Given the description of an element on the screen output the (x, y) to click on. 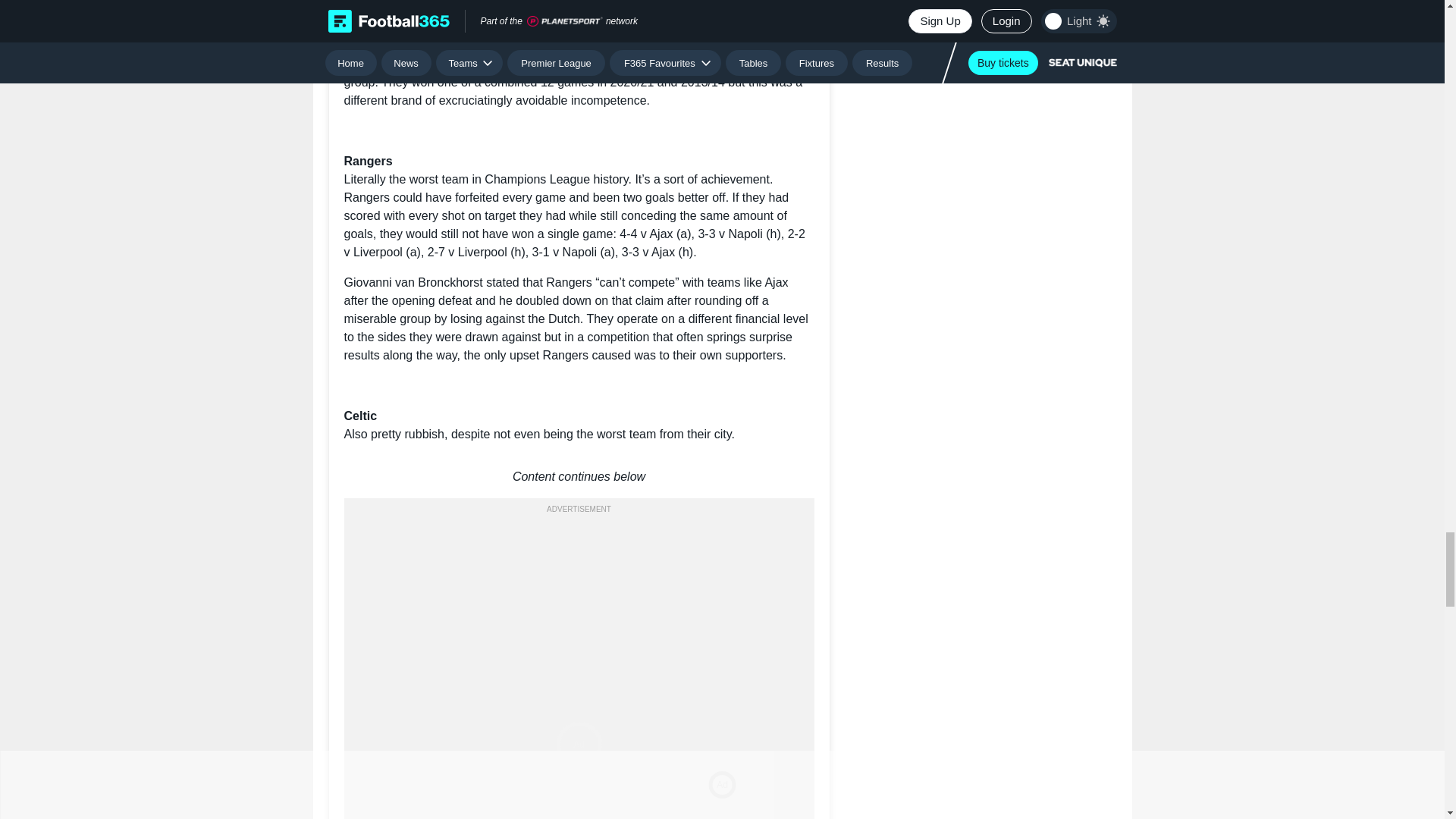
Content continues below (578, 476)
